Given the description of an element on the screen output the (x, y) to click on. 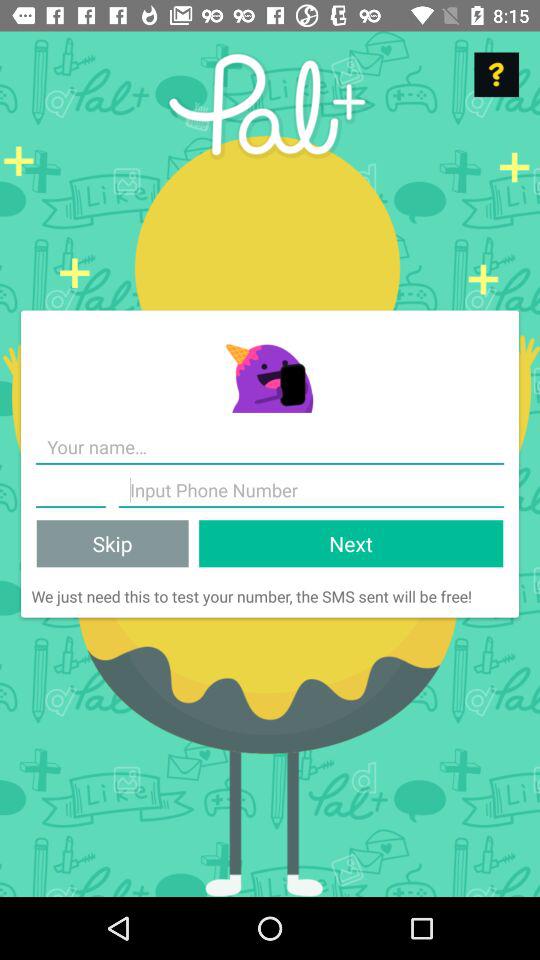
type your phone number (311, 490)
